Given the description of an element on the screen output the (x, y) to click on. 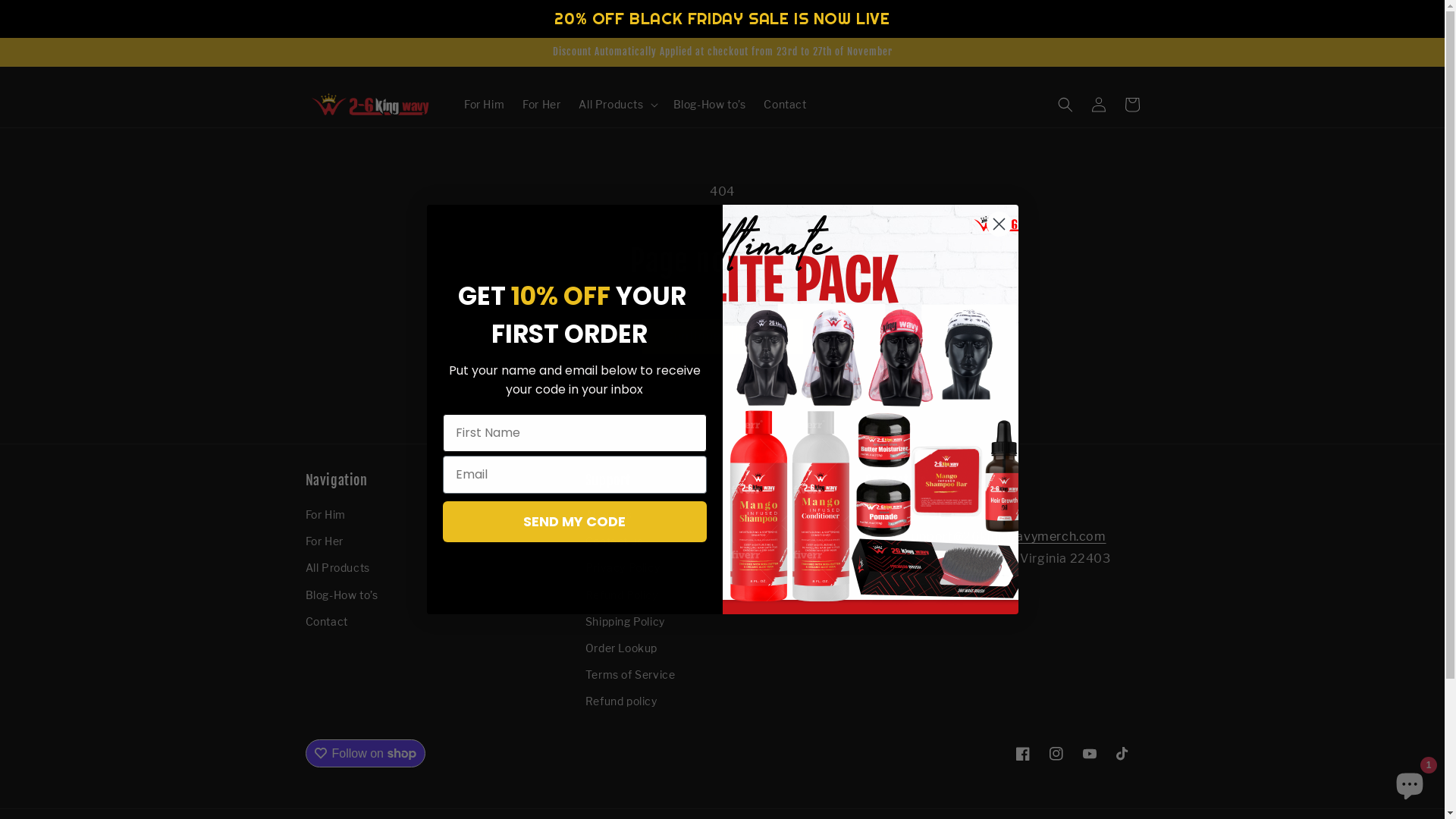
Refund Policy Element type: text (621, 594)
SEND MY CODE Element type: text (574, 520)
TikTok Element type: text (1122, 753)
About us Element type: text (608, 516)
Cart Element type: text (1131, 104)
YouTube Element type: text (1088, 753)
For Him Element type: text (484, 104)
Facebook Element type: text (1021, 753)
Contact Element type: text (325, 621)
Contact us Element type: text (614, 540)
Refund policy Element type: text (621, 700)
Contact Element type: text (784, 104)
Close dialog 1 Element type: text (998, 223)
Instagram Element type: text (1055, 753)
Shopify online store chat Element type: hover (1409, 780)
Log in Element type: text (1097, 104)
All Products Element type: text (336, 567)
Continue shopping Element type: text (721, 336)
For Him Element type: text (324, 516)
Shipping Policy Element type: text (625, 621)
For Her Element type: text (541, 104)
Privacy Policy Element type: text (622, 567)
Email: support@26kingwavymerch.com Element type: text (985, 536)
Terms of Service Element type: text (630, 674)
Submit Element type: text (21, 7)
Order Lookup Element type: text (621, 647)
For Her Element type: text (323, 540)
